Given the description of an element on the screen output the (x, y) to click on. 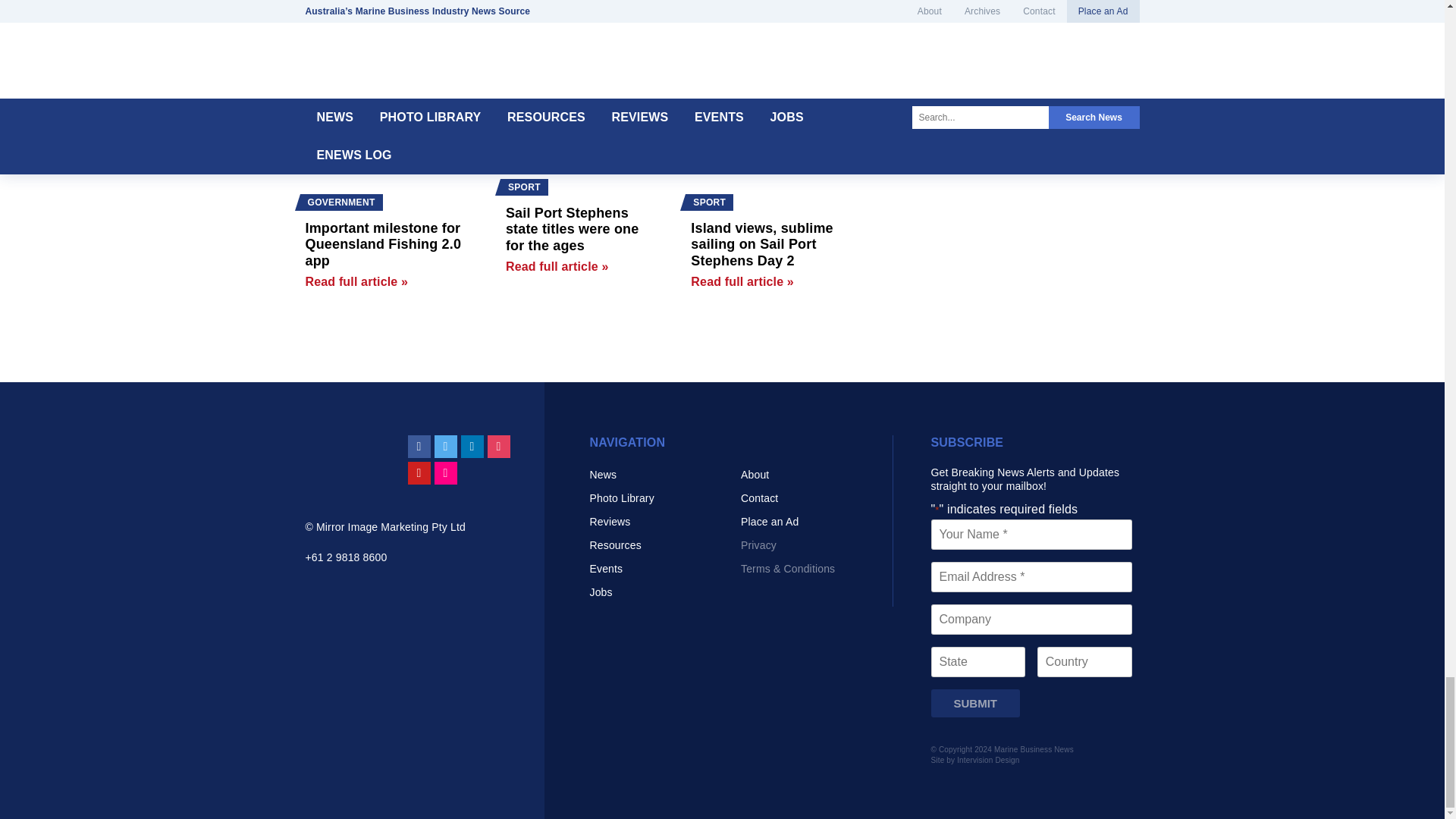
Intervision Design (987, 759)
Submit (975, 703)
